Given the description of an element on the screen output the (x, y) to click on. 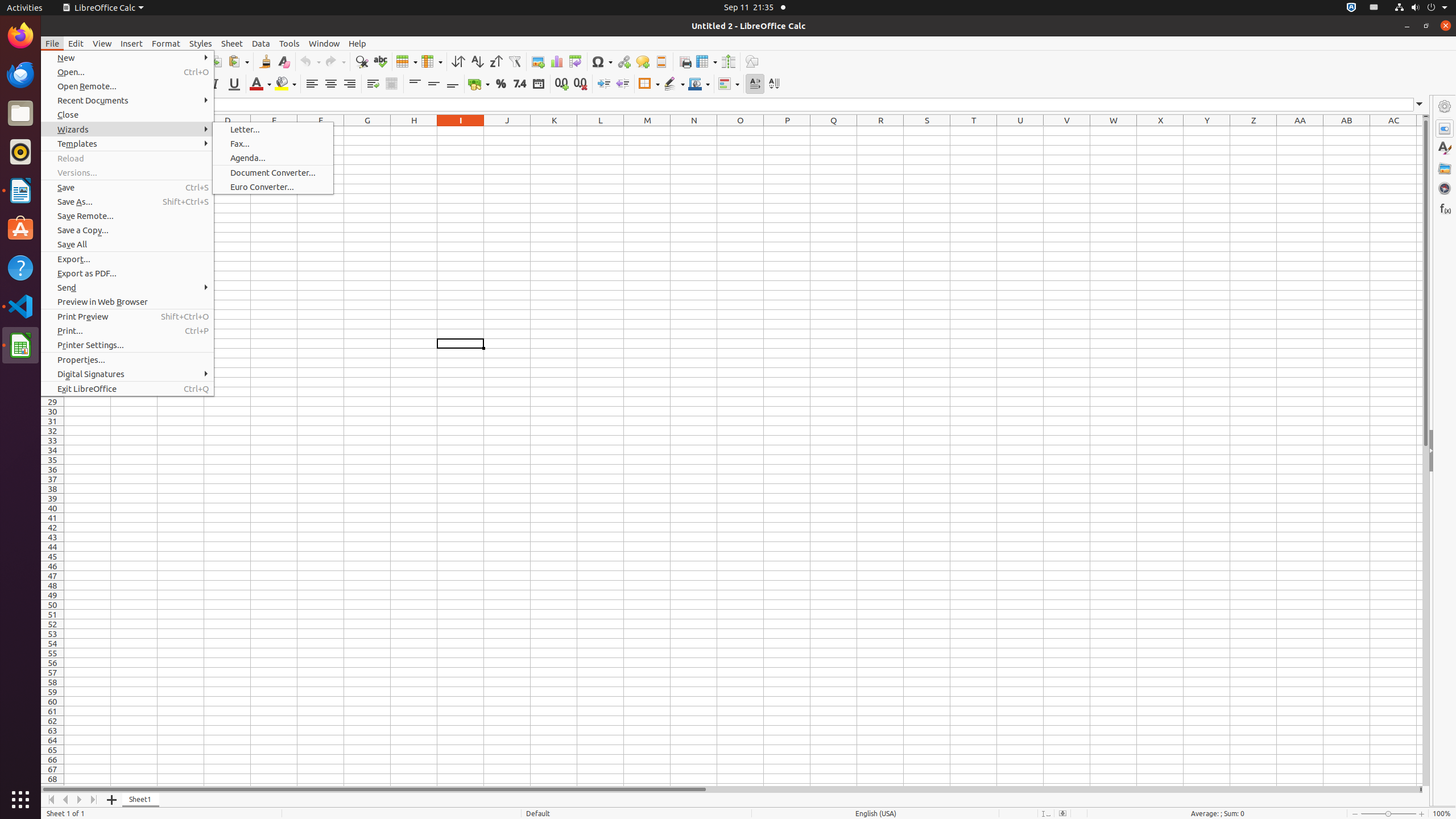
Q1 Element type: table-cell (833, 130)
Edit Element type: menu (75, 43)
P1 Element type: table-cell (786, 130)
Increase Element type: push-button (603, 83)
N1 Element type: table-cell (693, 130)
